Given the description of an element on the screen output the (x, y) to click on. 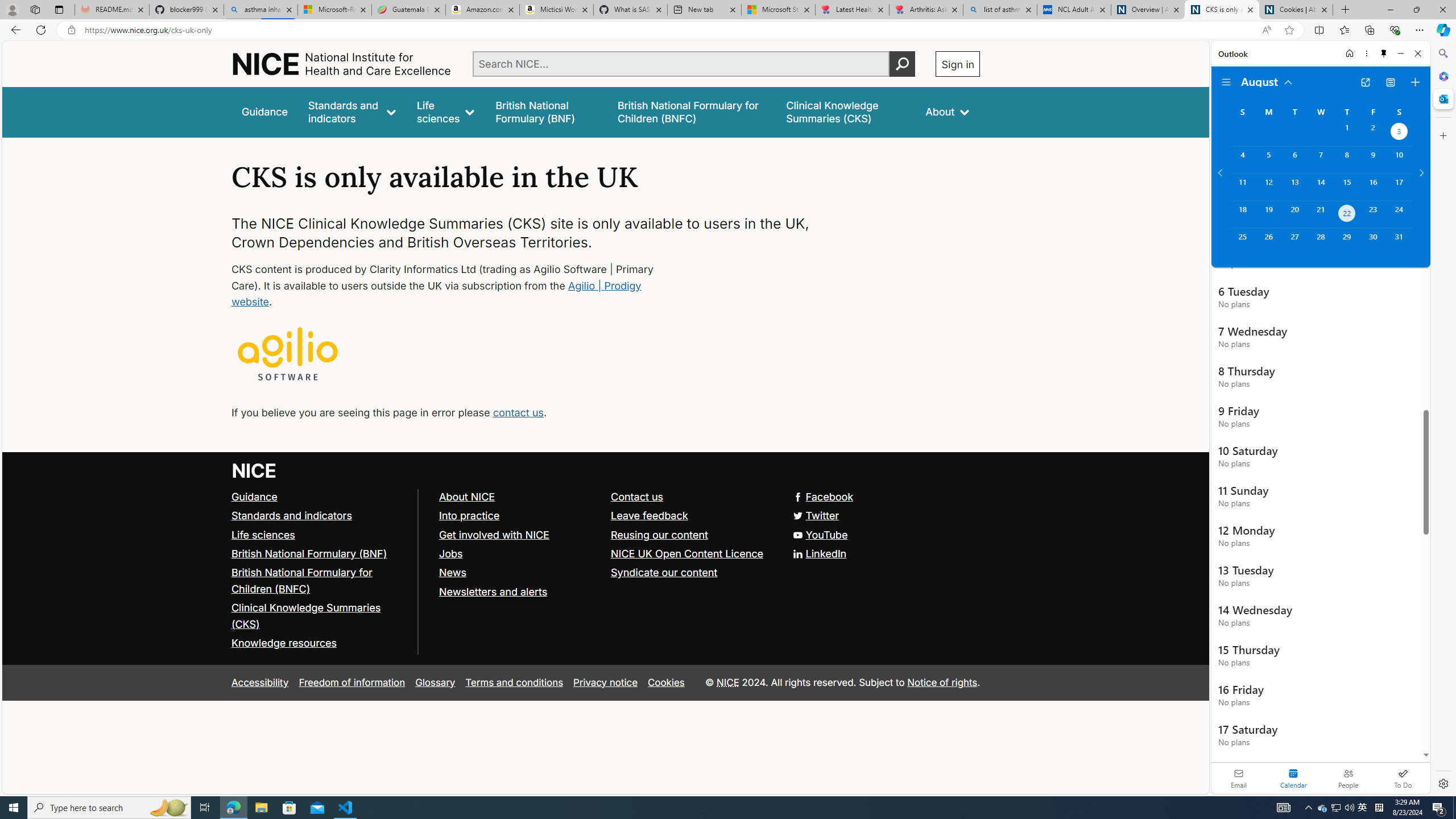
LinkedIn (605, 553)
Jobs (450, 553)
Syndicate our content (692, 572)
NCL Adult Asthma Inhaler Choice Guideline (1073, 9)
Twitter (605, 515)
Wednesday, August 7, 2024.  (1320, 159)
Create event (1414, 82)
Agilio | Prodigy website (436, 293)
Sign in (957, 63)
Newsletters and alerts (492, 591)
Into practice (518, 515)
